Given the description of an element on the screen output the (x, y) to click on. 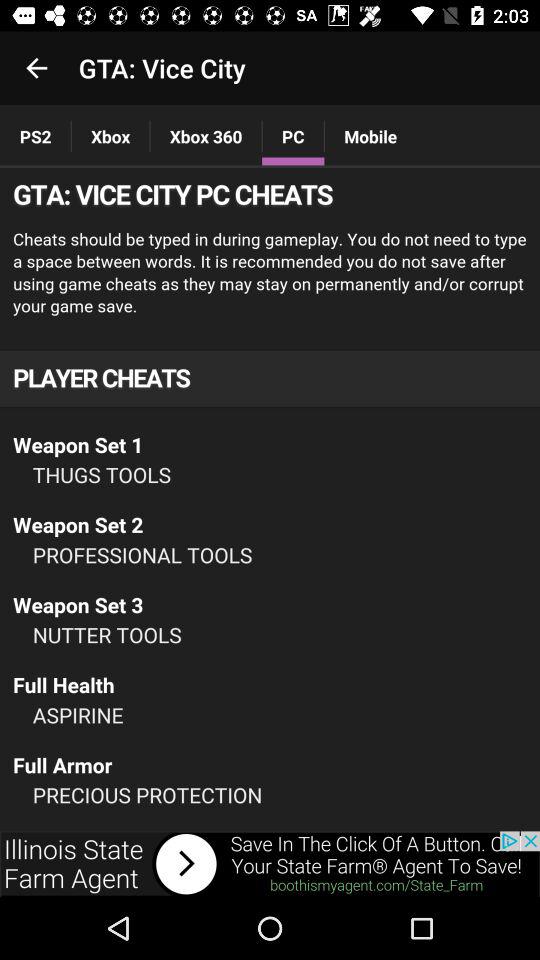
advertisement page (270, 499)
